Given the description of an element on the screen output the (x, y) to click on. 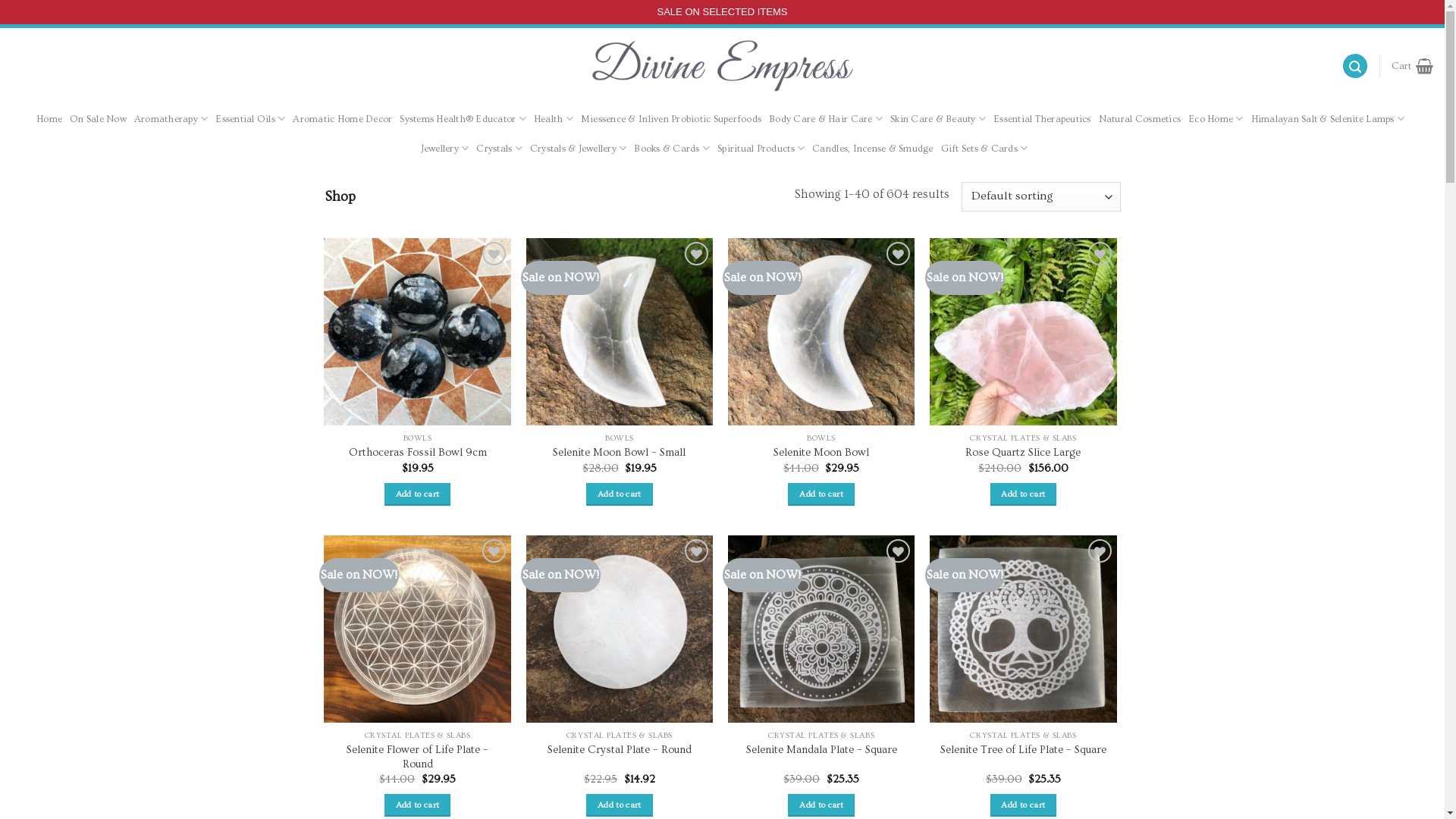
Cart Element type: text (1412, 65)
Rose Quartz Slice Large Element type: text (1022, 452)
Add to cart Element type: text (1023, 804)
Aromatherapy Element type: text (171, 118)
Add to cart Element type: text (619, 804)
Add to cart Element type: text (417, 804)
Add to cart Element type: text (619, 494)
Eco Home Element type: text (1215, 118)
Wishlist Element type: text (1393, 13)
Body Care & Hair Care Element type: text (825, 118)
Essential Oils Element type: text (250, 118)
Add to cart Element type: text (417, 494)
Health Element type: text (553, 118)
Gift Sets & Cards Element type: text (984, 148)
Add to cart Element type: text (820, 804)
Add to cart Element type: text (1023, 494)
Jewellery Element type: text (444, 148)
Books & Cards Element type: text (671, 148)
Add to cart Element type: text (820, 494)
Essential Therapeutics Element type: text (1042, 118)
Natural Cosmetics Element type: text (1139, 118)
Home Element type: text (49, 118)
Crystals & Jewellery Element type: text (578, 148)
Crystals Element type: text (499, 148)
On Sale Now Element type: text (97, 118)
Miessence & Inliven Probiotic Superfoods Element type: text (670, 118)
Selenite Moon Bowl Element type: text (821, 452)
Login Element type: text (1340, 13)
Aromatic Home Decor Element type: text (342, 118)
Spiritual Products Element type: text (760, 148)
Skin Care & Beauty Element type: text (937, 118)
Candles, Incense & Smudge Element type: text (872, 148)
Himalayan Salt & Selenite Lamps Element type: text (1327, 118)
Orthoceras Fossil Bowl 9cm Element type: text (417, 452)
